Given the description of an element on the screen output the (x, y) to click on. 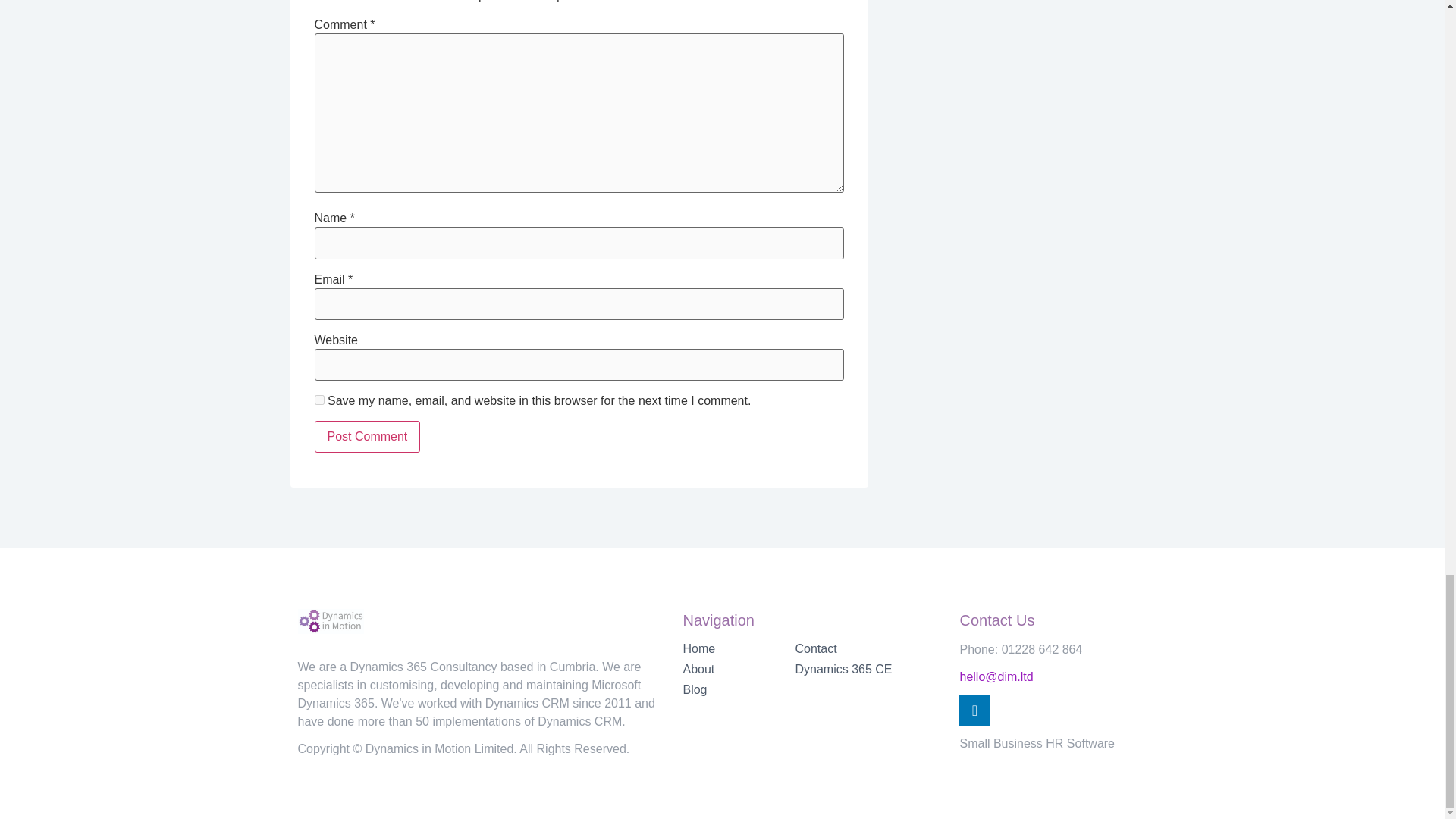
Contact (868, 648)
Post Comment (367, 436)
Phone: 01228 642 864 (1020, 649)
Dynamics 365 CE (868, 669)
Post Comment (367, 436)
Home (738, 648)
yes (318, 399)
About (738, 669)
Blog (738, 689)
